Given the description of an element on the screen output the (x, y) to click on. 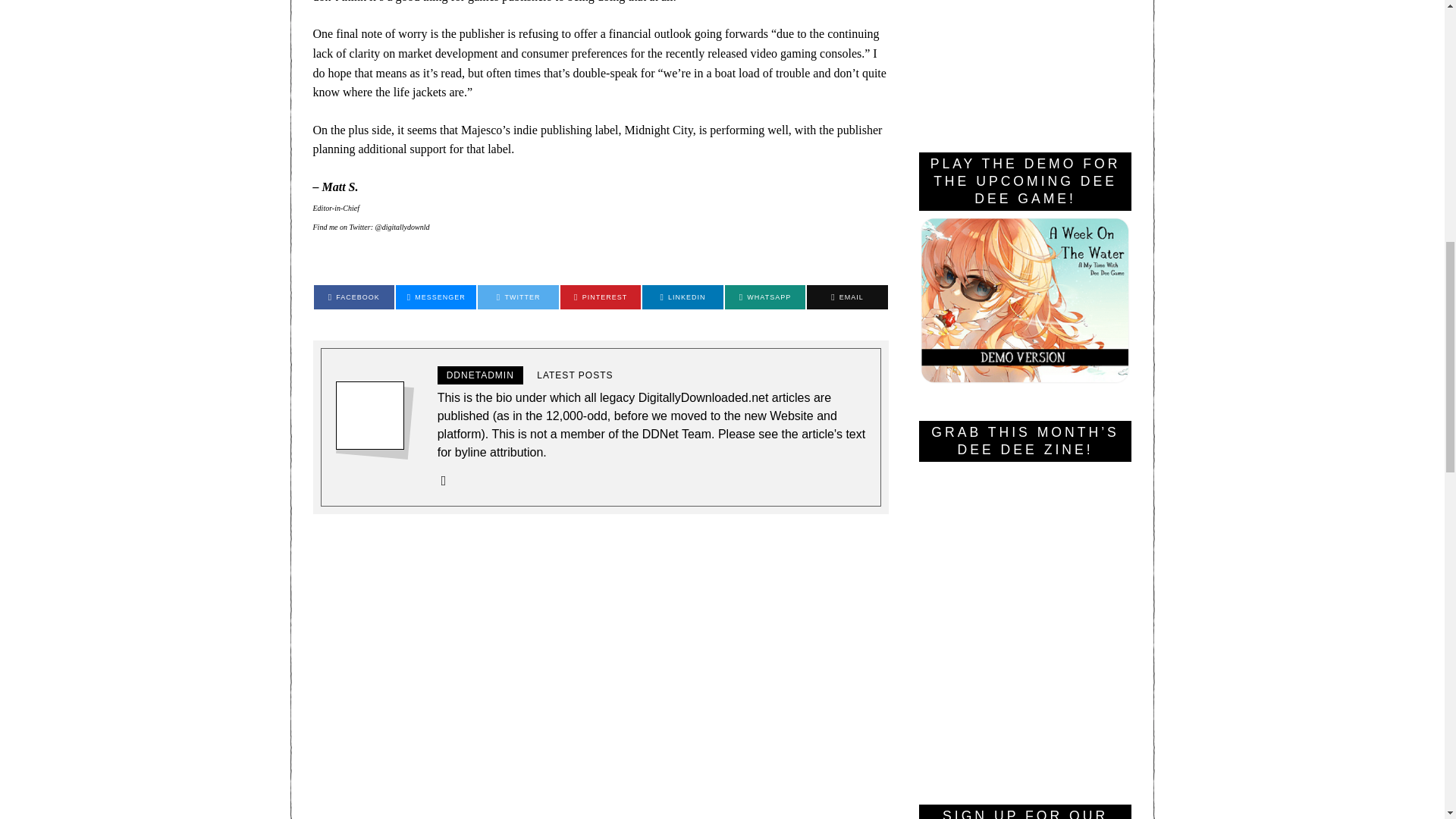
Email (846, 297)
Facebook (354, 297)
Twitter (517, 297)
Linkedin (682, 297)
LINKEDIN (682, 297)
Whatsapp (765, 297)
TWITTER (517, 297)
FACEBOOK (354, 297)
Messenger (436, 297)
PINTEREST (1396, 20)
Pinterest (600, 297)
MESSENGER (600, 297)
